Given the description of an element on the screen output the (x, y) to click on. 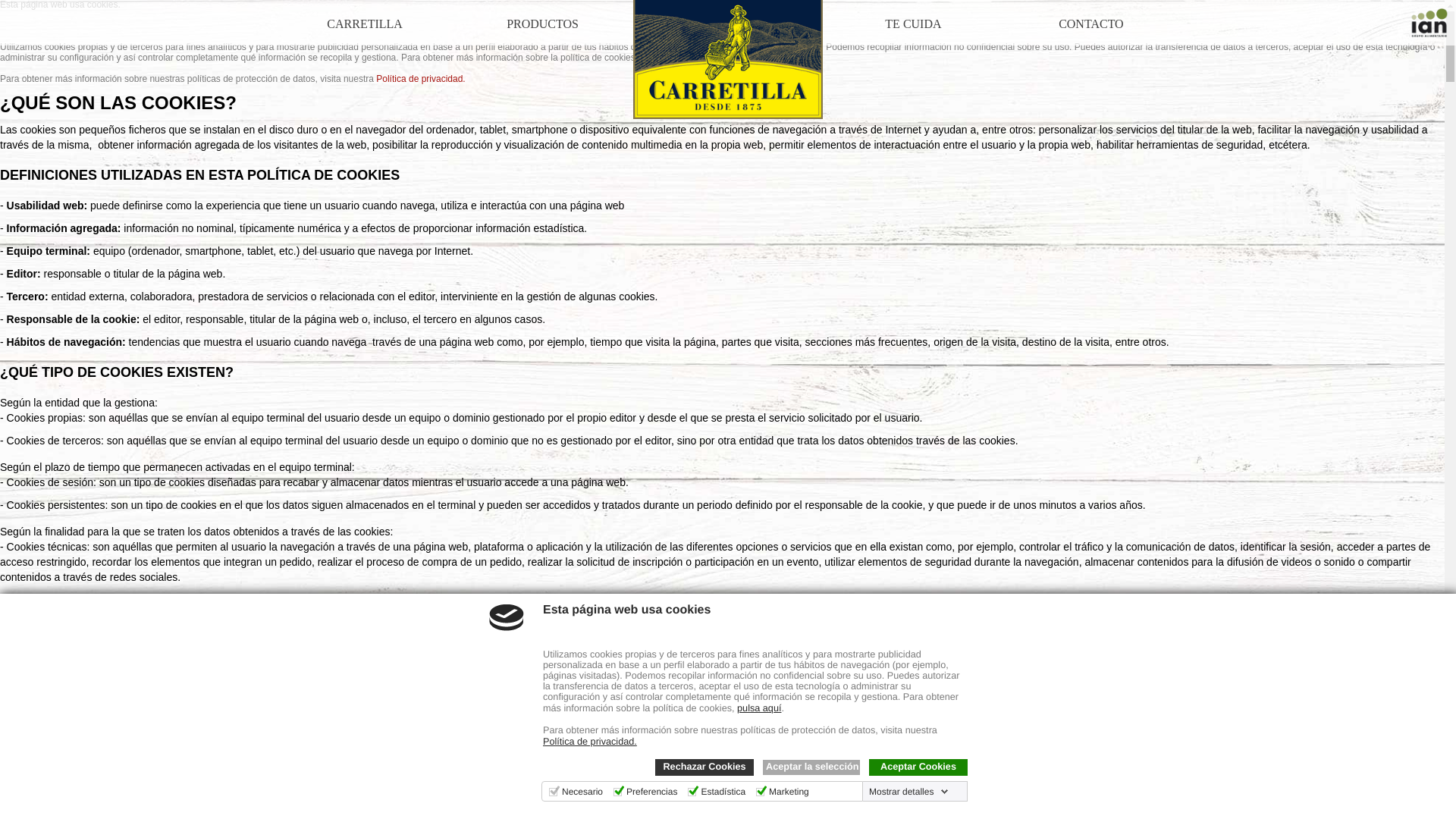
Cookiebot (298, 814)
Cookiebot (298, 814)
Cambiar tu consentimiento (72, 790)
